Given the description of an element on the screen output the (x, y) to click on. 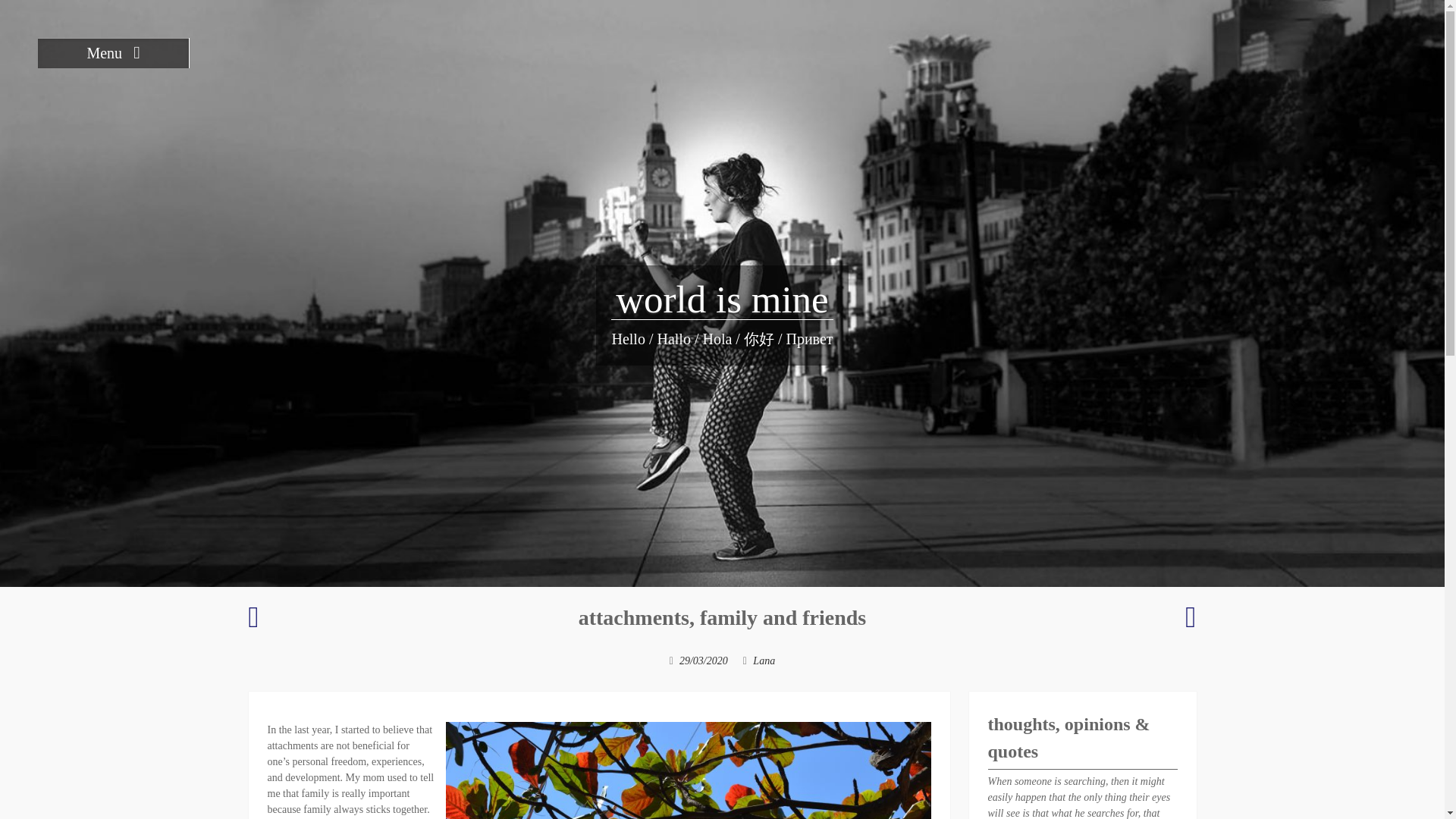
Lana (763, 660)
why do our priorities shift from friendship to relationship? (253, 623)
world is mine (721, 299)
Menu (113, 52)
